Given the description of an element on the screen output the (x, y) to click on. 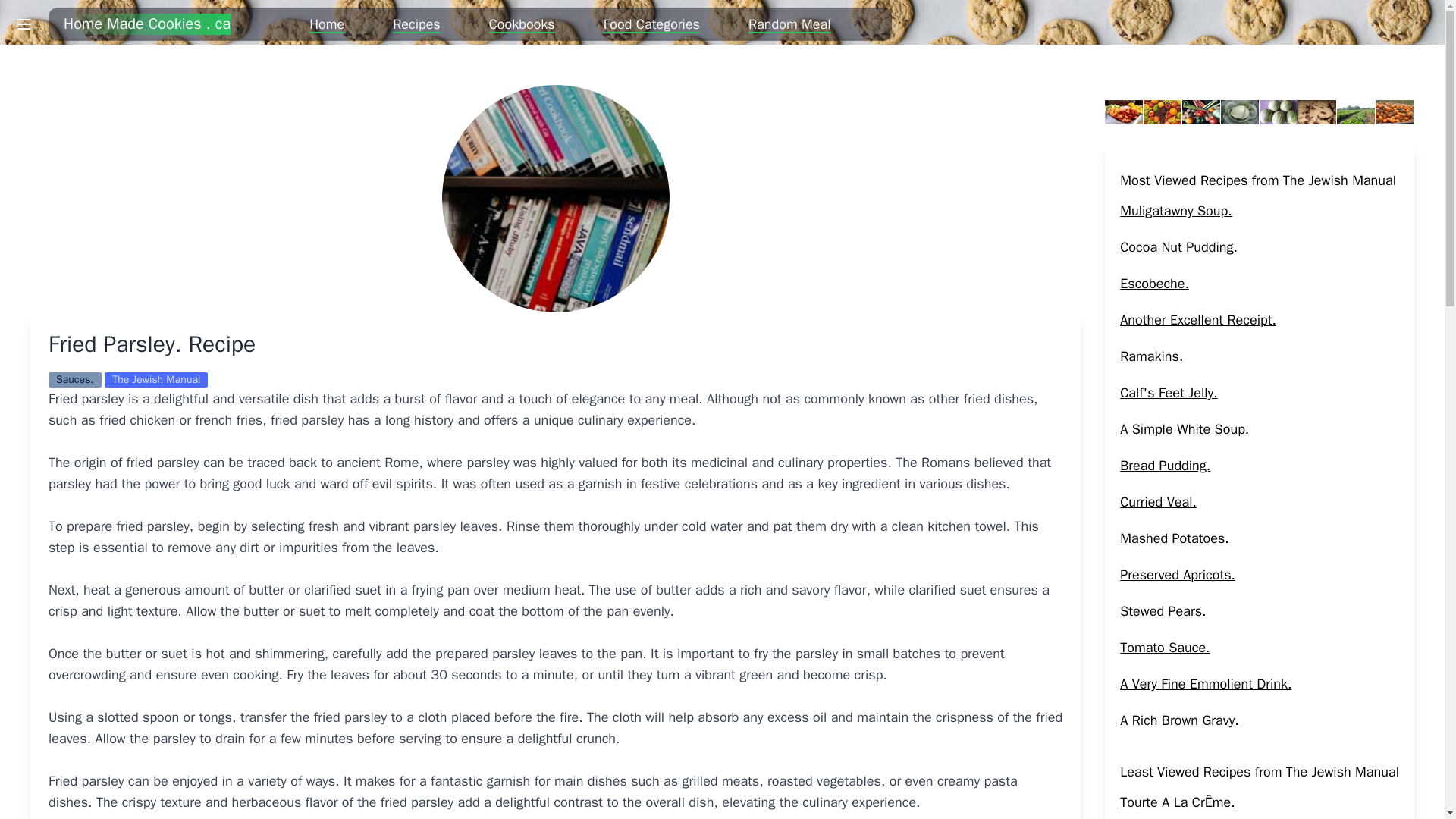
The Jewish Manual (156, 379)
Muligatawny Soup. (1175, 210)
Escobeche. (1154, 283)
Random Meal (789, 24)
Recipes (417, 24)
A Simple White Soup. (1184, 428)
Calf's Feet Jelly. (1168, 392)
Another Excellent Receipt. (1197, 320)
Home (325, 24)
Cookbooks (521, 24)
